Given the description of an element on the screen output the (x, y) to click on. 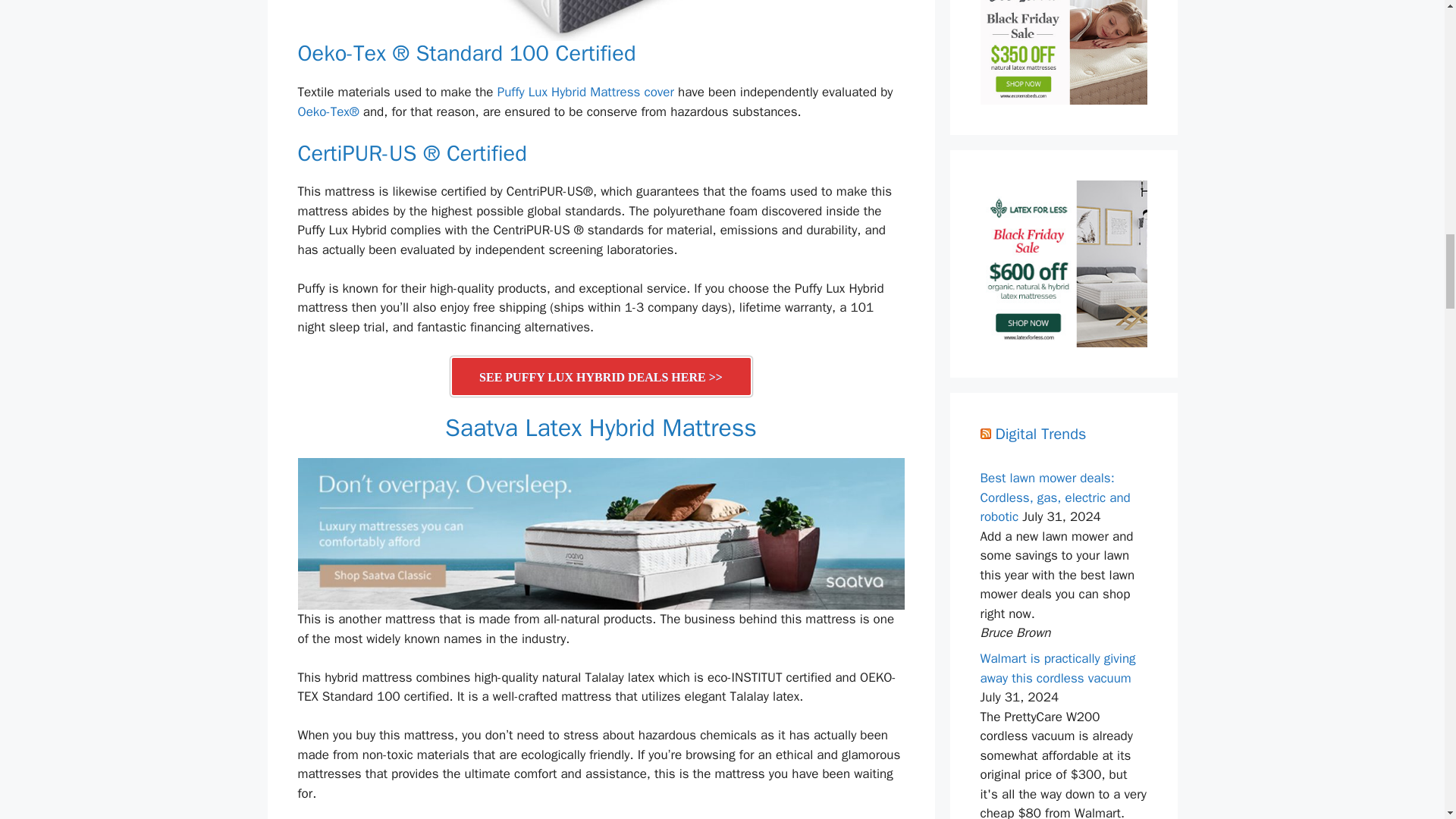
Puffy Lux Hybrid Mattress cover (585, 91)
